Given the description of an element on the screen output the (x, y) to click on. 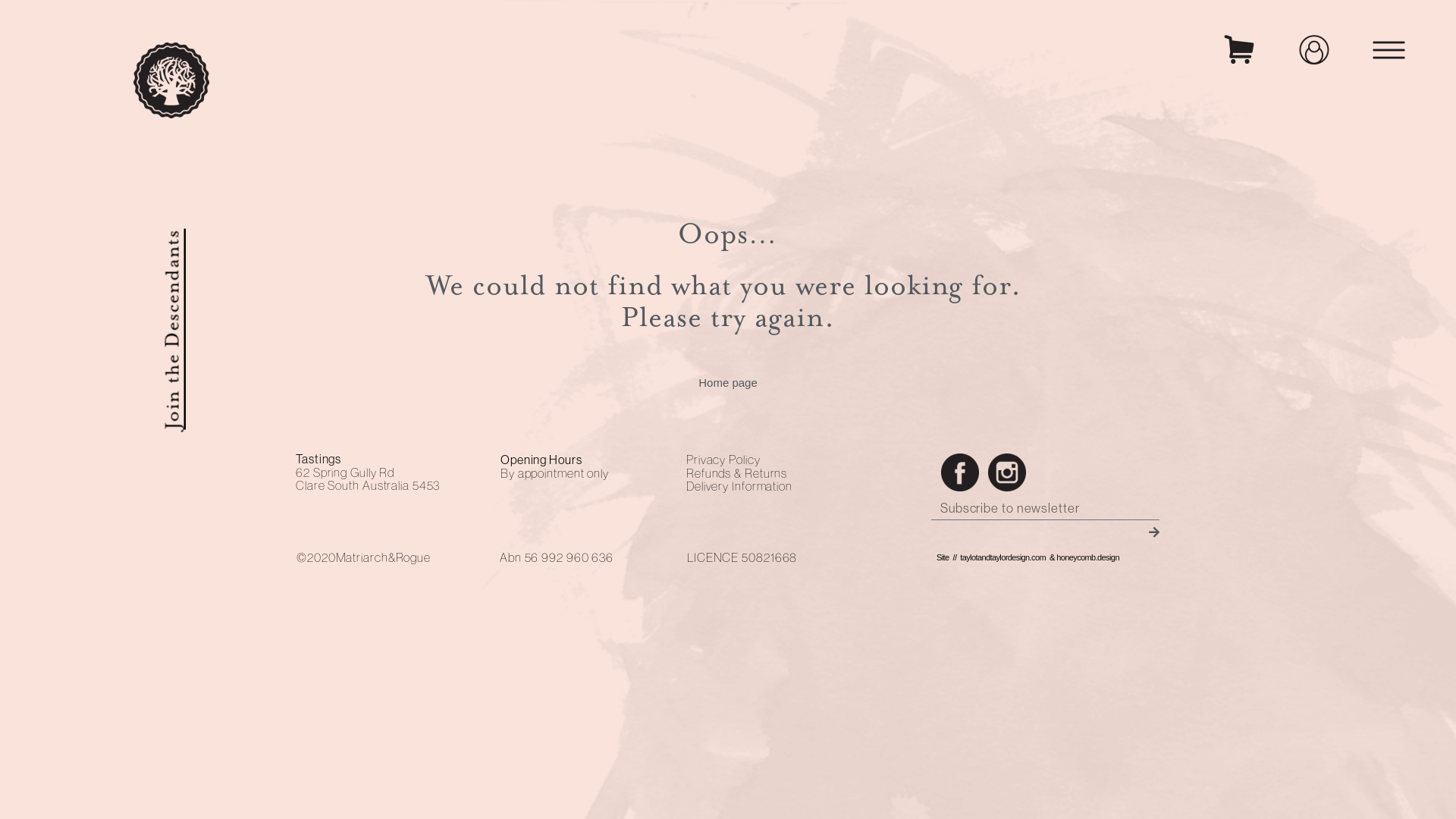
cart-icon-b Element type: hover (1238, 48)
Privacy Policy Element type: text (723, 459)
user-icon-b Element type: hover (1314, 49)
taylotandtaylordesign.com Element type: text (1002, 556)
M&R-icon-K Element type: hover (171, 80)
Home page Element type: text (727, 382)
honeycomb.design Element type: text (1087, 556)
fb Element type: hover (960, 472)
Delivery Information Element type: text (739, 485)
Join the Descendants Element type: text (260, 241)
hamburger-toggle-b Element type: hover (1388, 49)
Refunds & Returns Element type: text (736, 472)
ig Element type: hover (1007, 472)
